Given the description of an element on the screen output the (x, y) to click on. 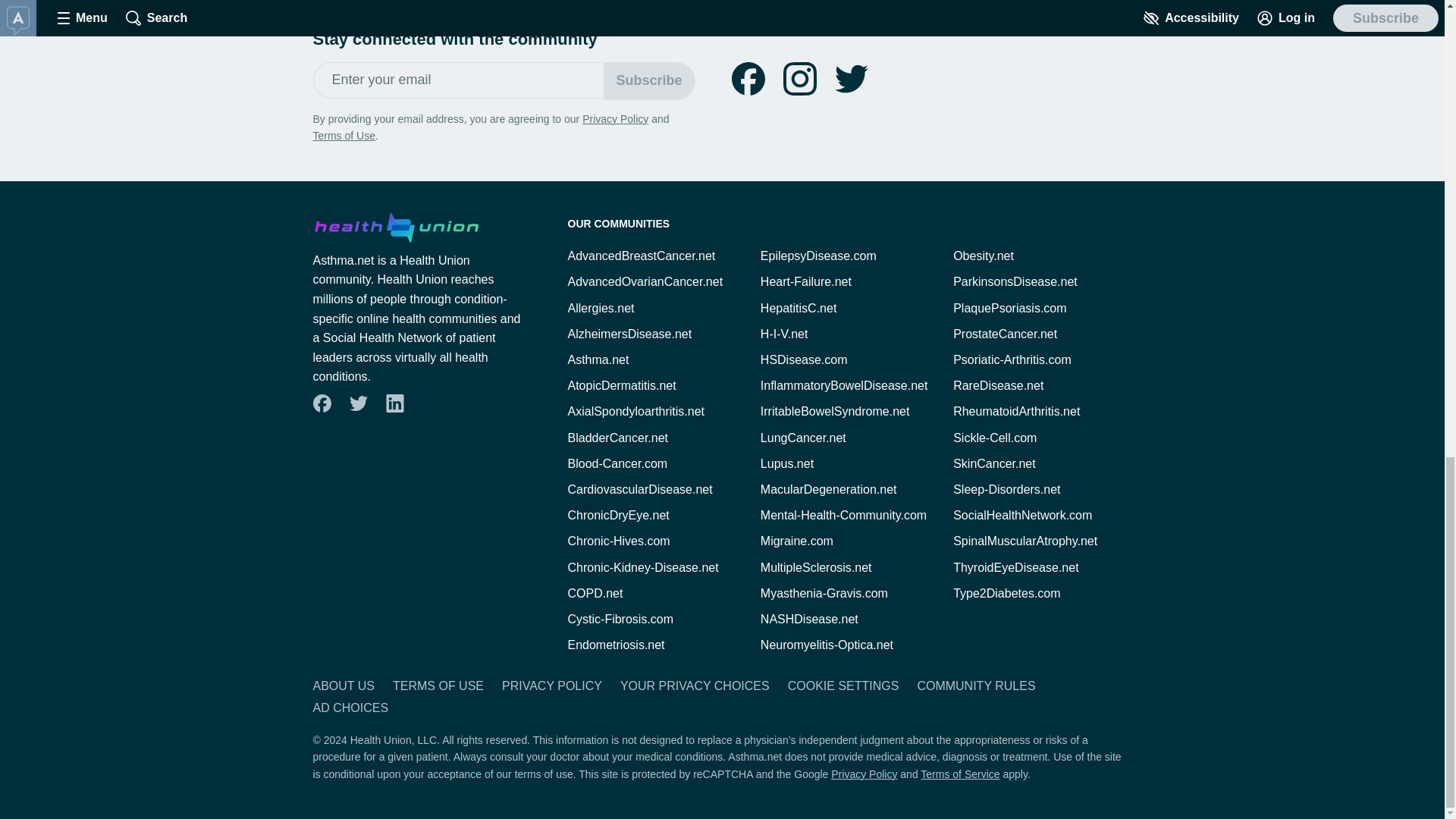
Allergies.net (600, 308)
Follow us on linkedin (393, 403)
Follow us on facebook (320, 403)
Follow us on instagram (799, 78)
AdvancedBreastCancer.net (640, 255)
Follow us on instagram (799, 78)
Terms of Use (343, 135)
Follow us on facebook (747, 78)
AtopicDermatitis.net (621, 385)
AxialSpondyloarthritis.net (635, 410)
